Given the description of an element on the screen output the (x, y) to click on. 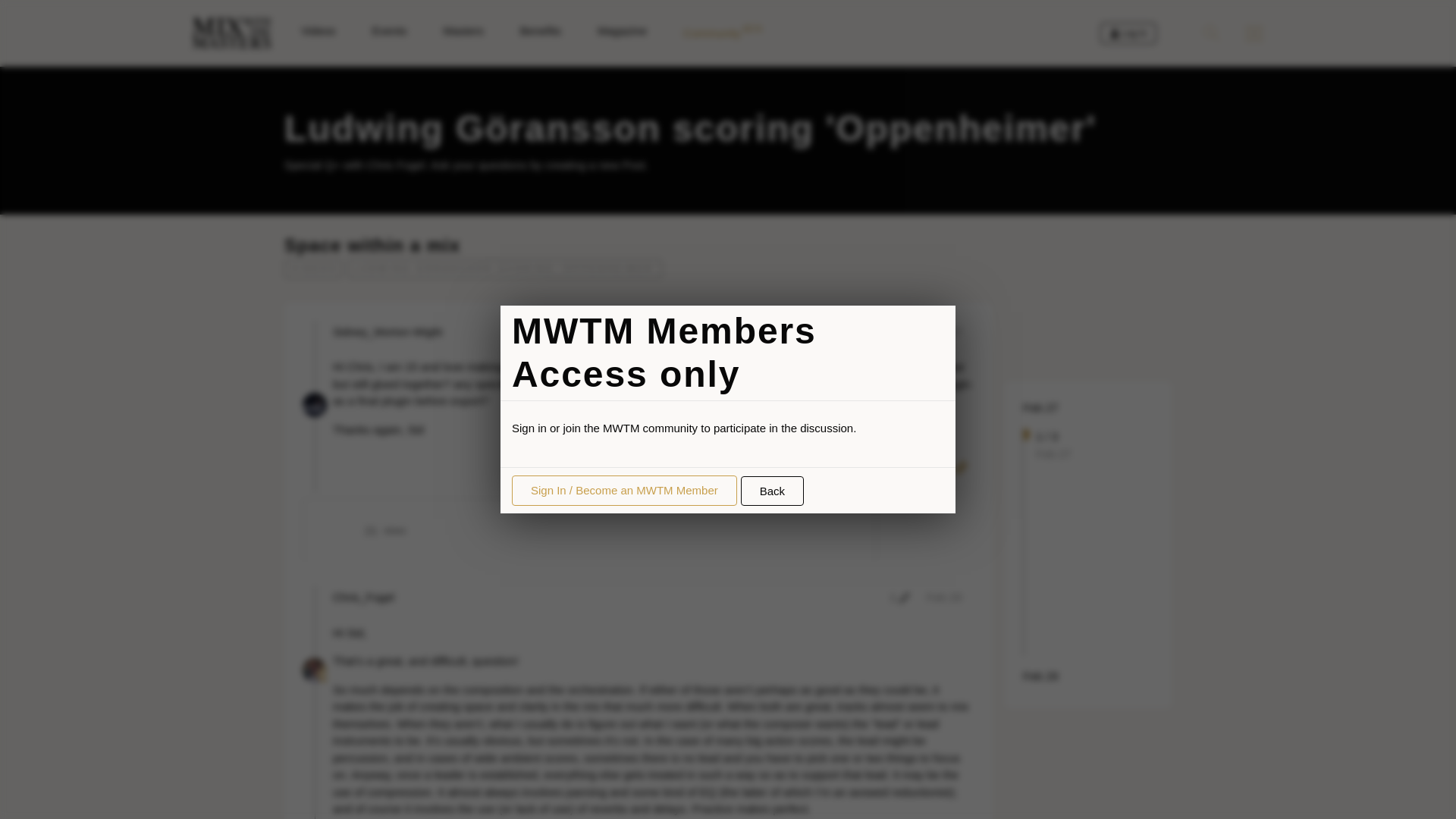
Jump to the first post (1040, 406)
Access your benefits (540, 31)
Post date (944, 330)
Share and connect with Masters (721, 33)
Feb 27 (1040, 406)
Jump to the last post (387, 530)
Feb 29 (1040, 675)
Events (1040, 675)
copy a link to this post to clipboard (389, 31)
Log In (960, 467)
Videos (1128, 33)
Feb 29 (317, 31)
Check out the Masters (944, 596)
Read our latest release (462, 31)
